Given the description of an element on the screen output the (x, y) to click on. 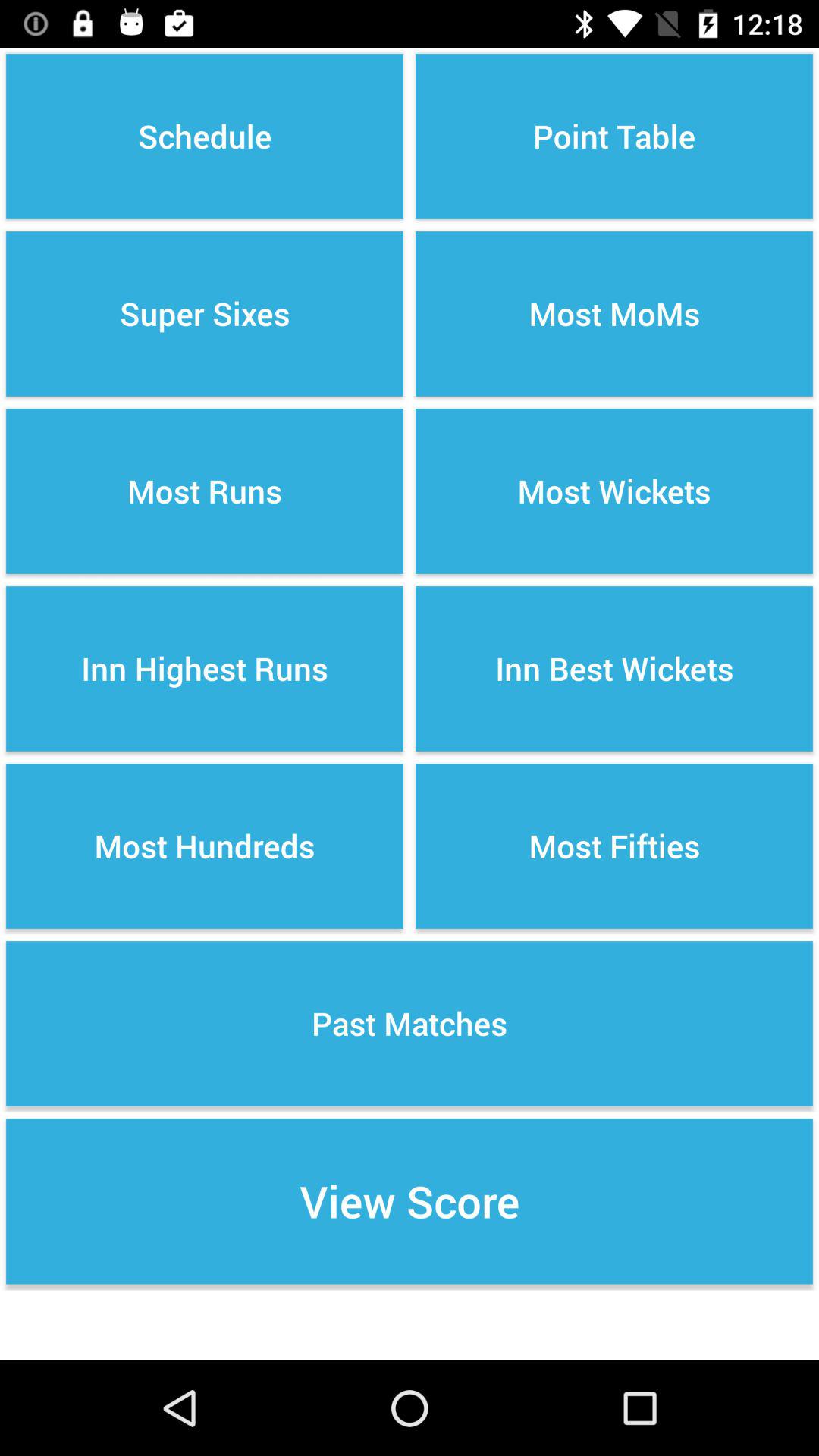
jump until super sixes (204, 313)
